Given the description of an element on the screen output the (x, y) to click on. 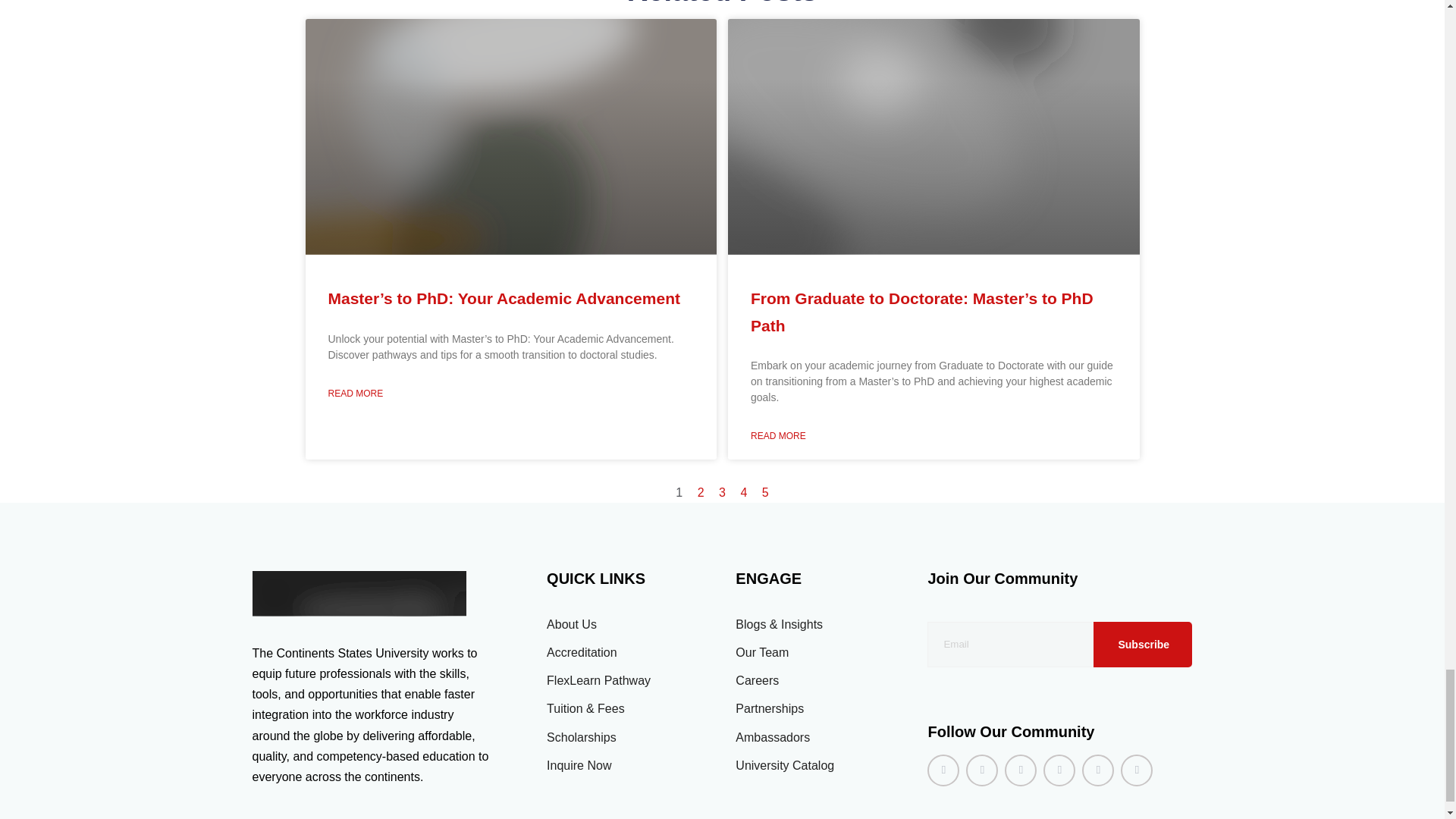
Subscribe (1142, 644)
